Given the description of an element on the screen output the (x, y) to click on. 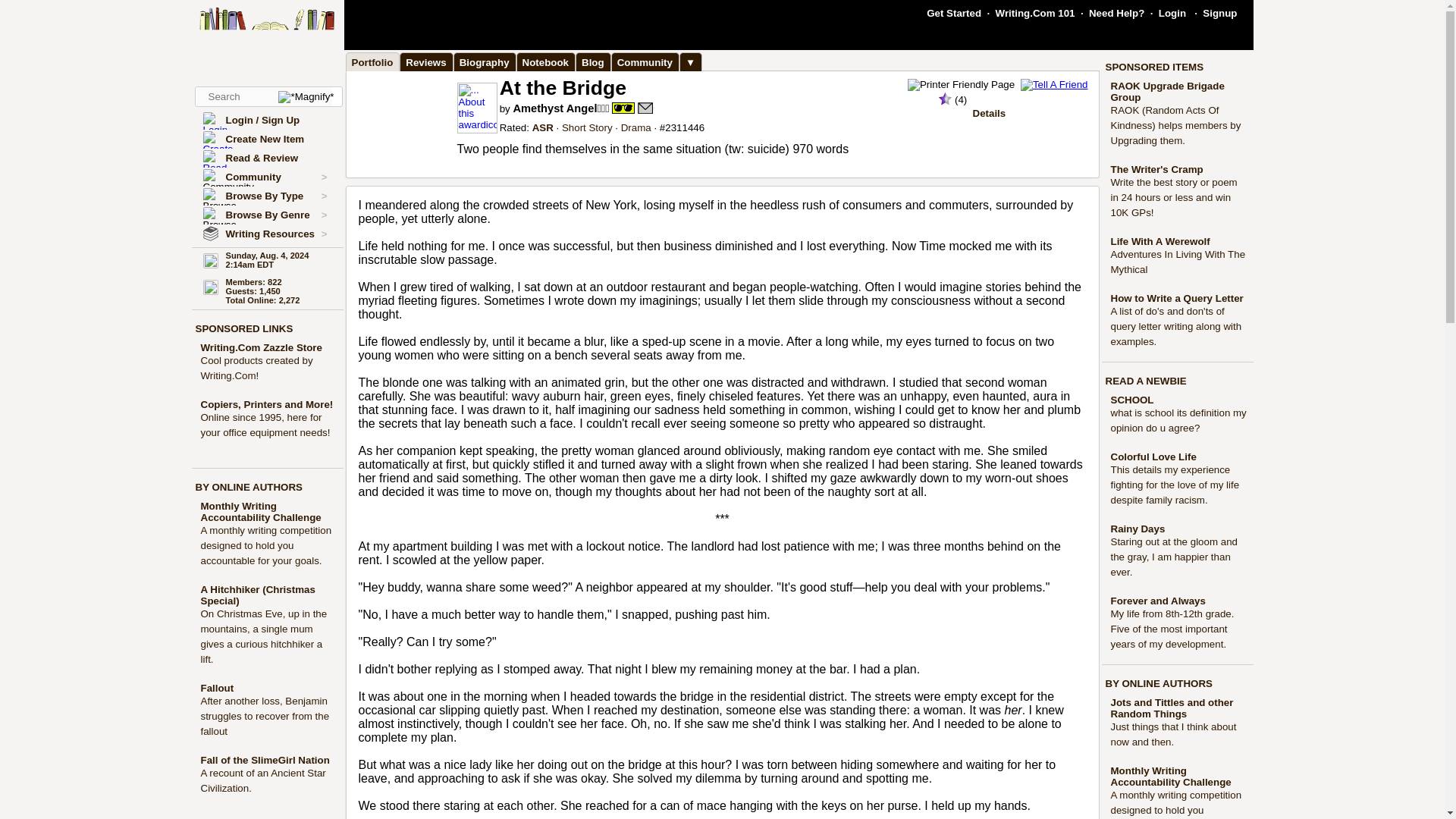
Need Help? (1116, 12)
Writing.Com 101 (1035, 12)
Signup (1219, 12)
Login (1172, 12)
Get Started (953, 12)
Create New Item (264, 138)
Magnify (305, 96)
